Given the description of an element on the screen output the (x, y) to click on. 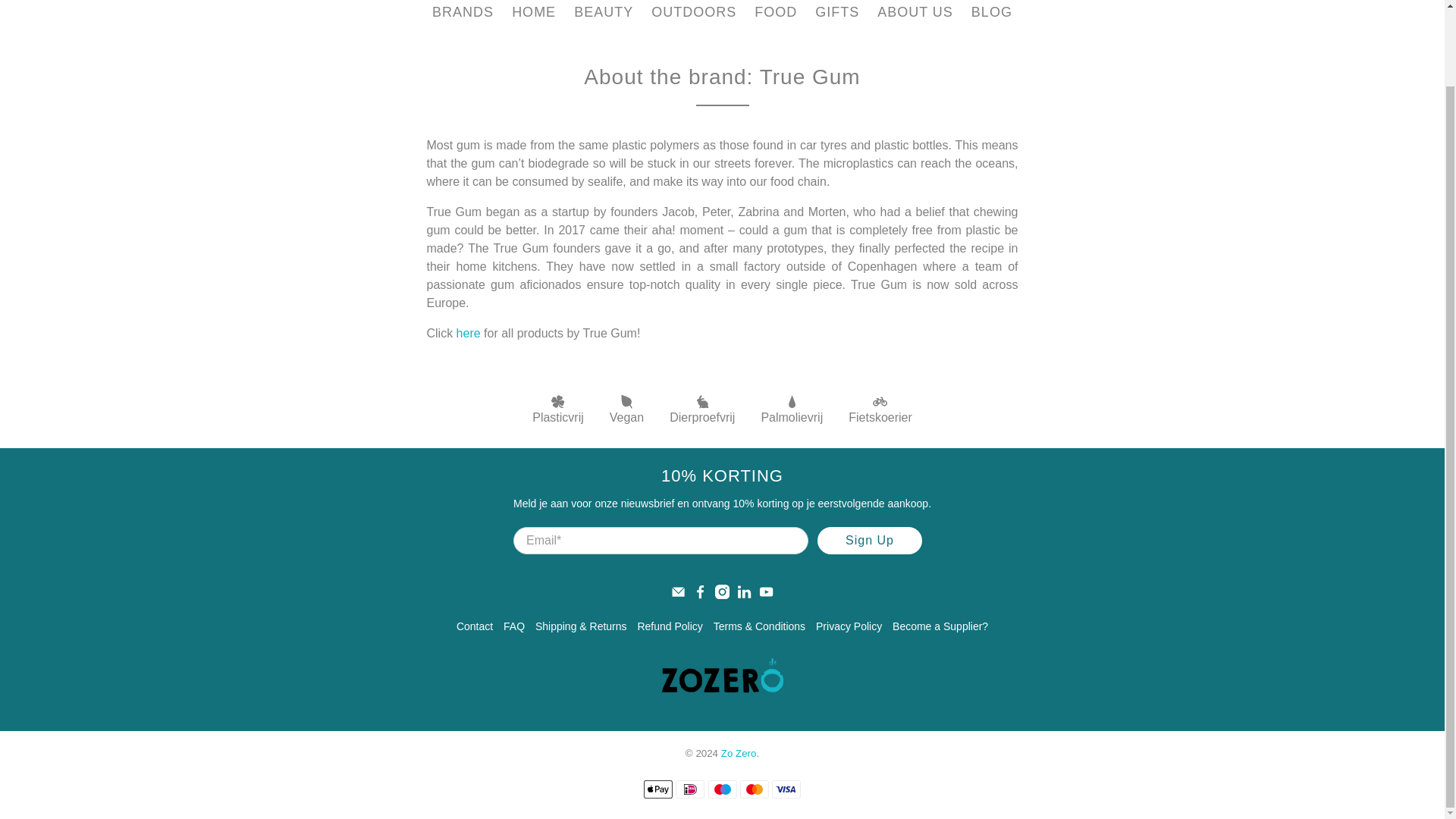
BRANDS (462, 17)
HOME (533, 17)
iDEAL (689, 789)
Zo Zero on Facebook (700, 594)
Apple Pay (657, 789)
Mastercard (753, 789)
Zo Zero on YouTube (765, 594)
Maestro (721, 789)
Visa (785, 789)
Zo Zero (721, 675)
